Given the description of an element on the screen output the (x, y) to click on. 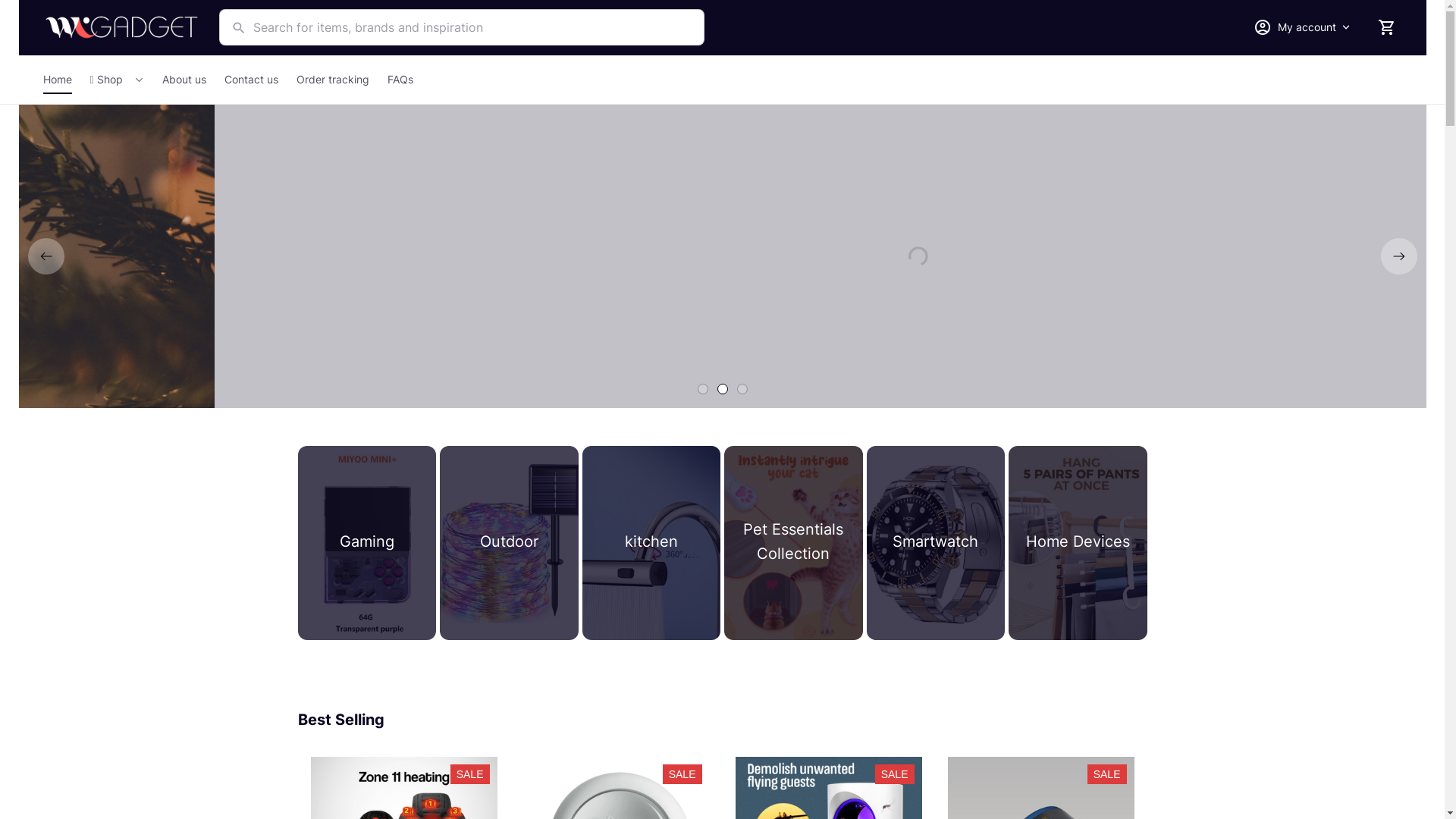
Gaming Element type: text (366, 542)
Outdoor Element type: text (508, 542)
About us Element type: text (184, 79)
Home Devices Element type: text (1077, 542)
Smartwatch Element type: text (935, 542)
Home Element type: text (61, 79)
Pet Essentials Collection Element type: text (793, 542)
FAQs Element type: text (395, 79)
Order tracking Element type: text (332, 79)
kitchen Element type: text (651, 542)
Contact us Element type: text (251, 79)
SHOP NOW Element type: text (721, 323)
